Given the description of an element on the screen output the (x, y) to click on. 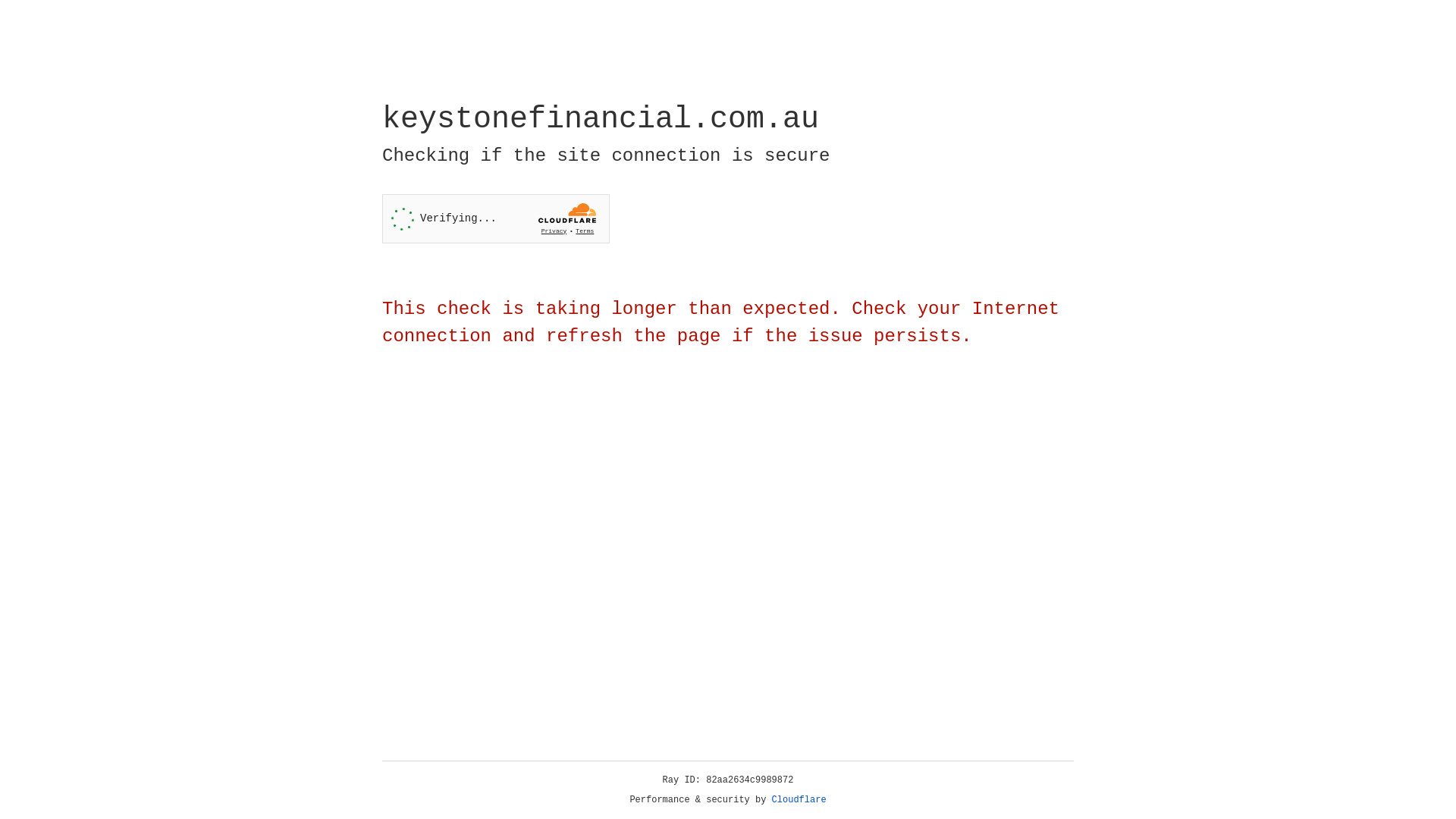
Widget containing a Cloudflare security challenge Element type: hover (495, 218)
Cloudflare Element type: text (798, 799)
